Given the description of an element on the screen output the (x, y) to click on. 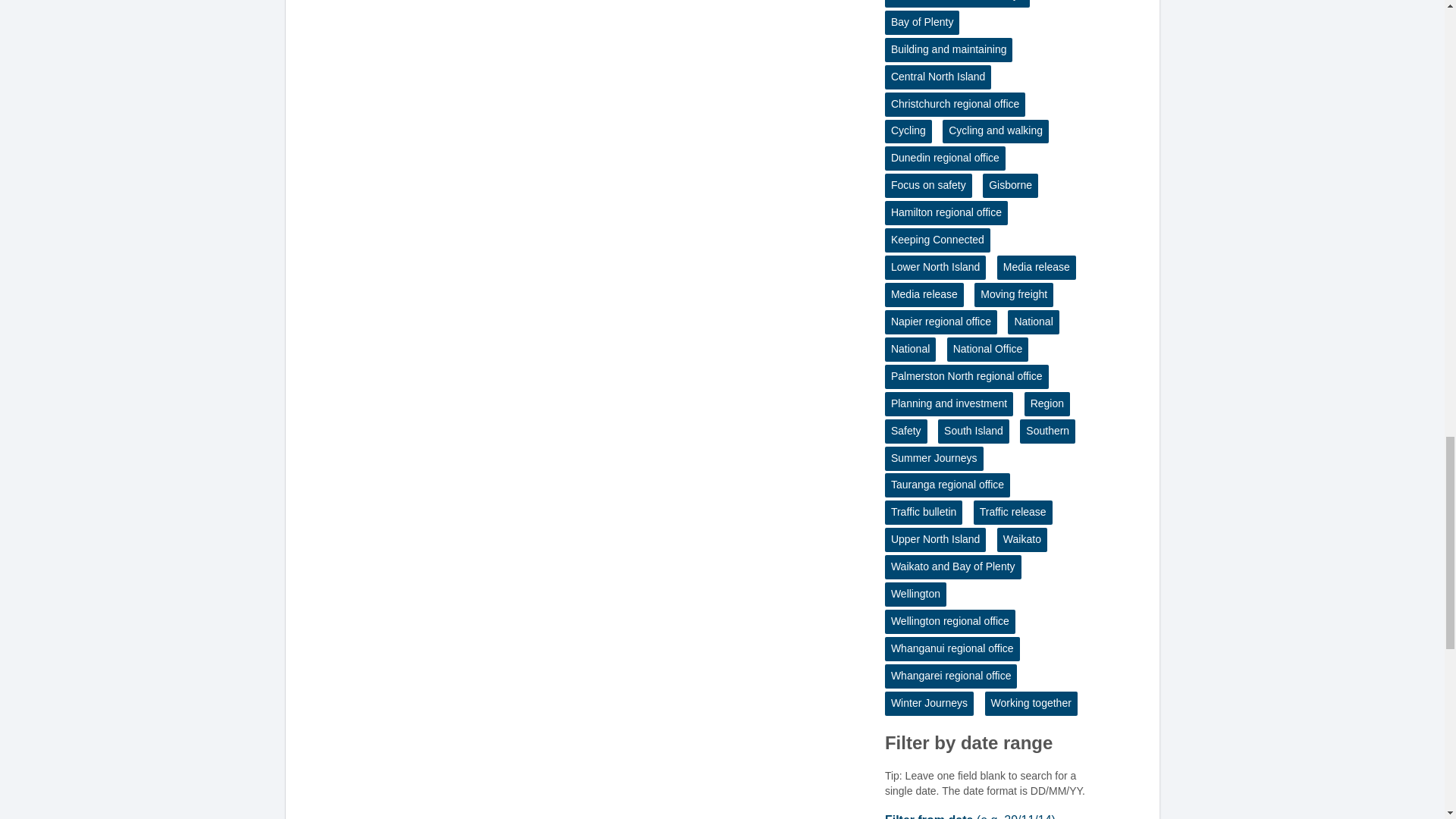
View items tagged Gisborne (1010, 185)
View items tagged Auckland Summer Journeys (957, 3)
View items tagged Central North Island (938, 77)
View items tagged Hamilton regional office (946, 212)
View items tagged Focus on safety (928, 185)
View items tagged Cycling and walking (995, 131)
View items tagged Christchurch regional office (955, 104)
View items tagged Cycling (908, 131)
View items tagged Keeping Connected (937, 240)
View items tagged Bay of Plenty (922, 22)
